Given the description of an element on the screen output the (x, y) to click on. 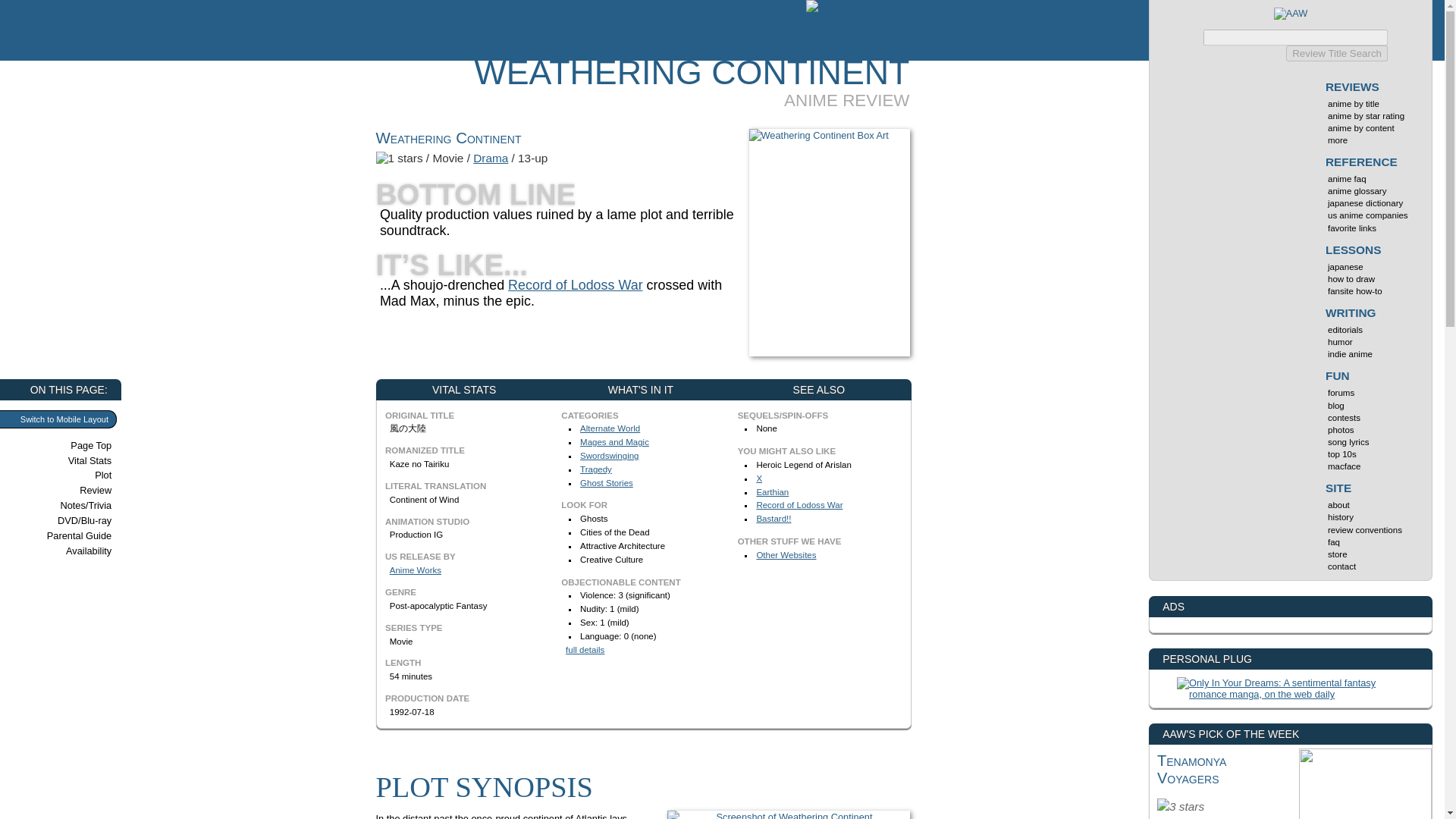
Tragedy (595, 469)
Drama (490, 157)
Record of Lodoss War (799, 504)
Review (70, 490)
Alternate World (609, 428)
Switch to Mobile Layout (58, 419)
full details (585, 649)
Swordswinging (609, 455)
Availability (70, 550)
Ghost Stories (606, 482)
